Given the description of an element on the screen output the (x, y) to click on. 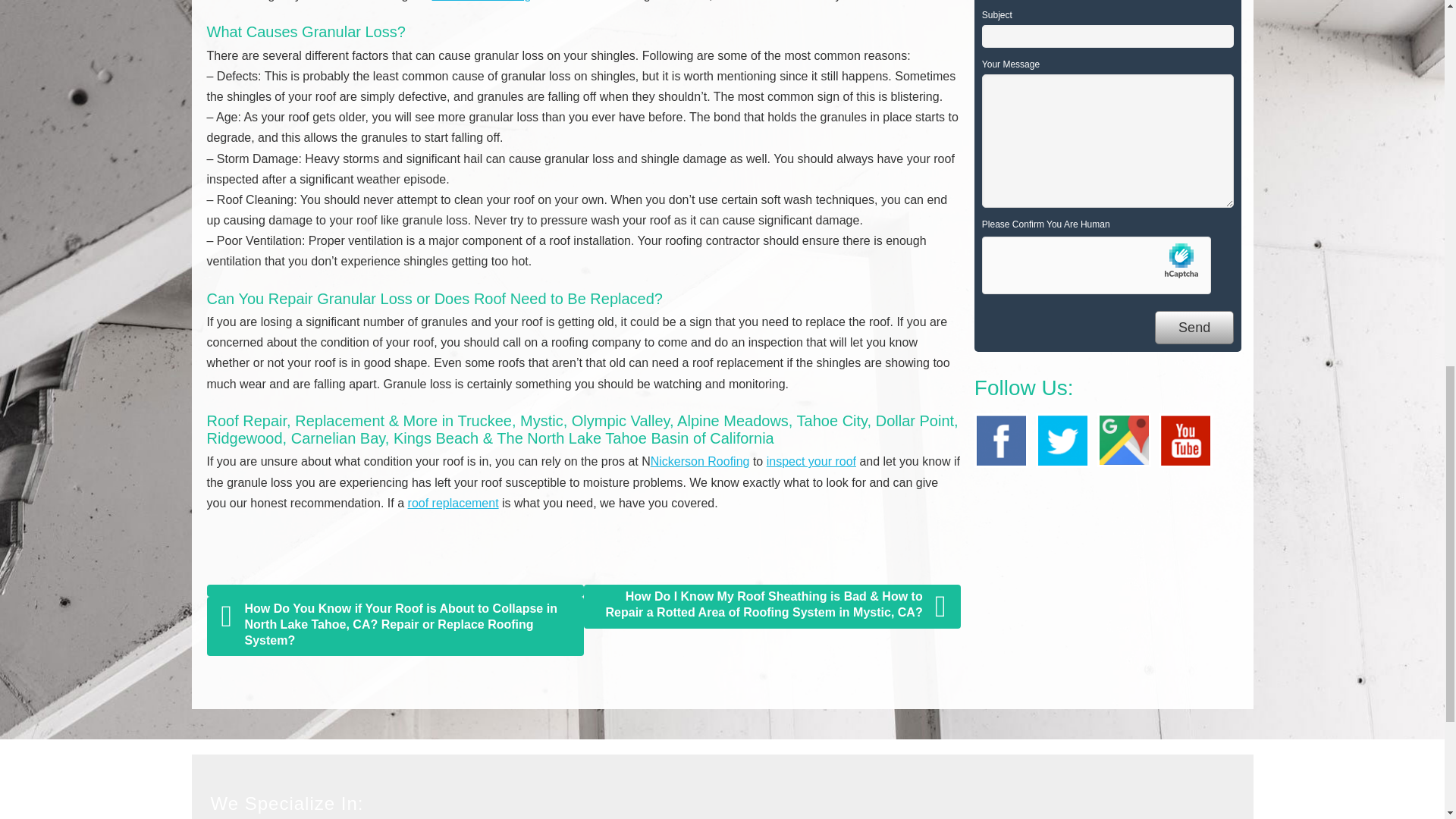
roof replacement (453, 502)
Nickerson Roofing (481, 0)
Send (1193, 327)
Nickerson Roofing (699, 461)
Send (1193, 327)
inspect your roof (811, 461)
